Given the description of an element on the screen output the (x, y) to click on. 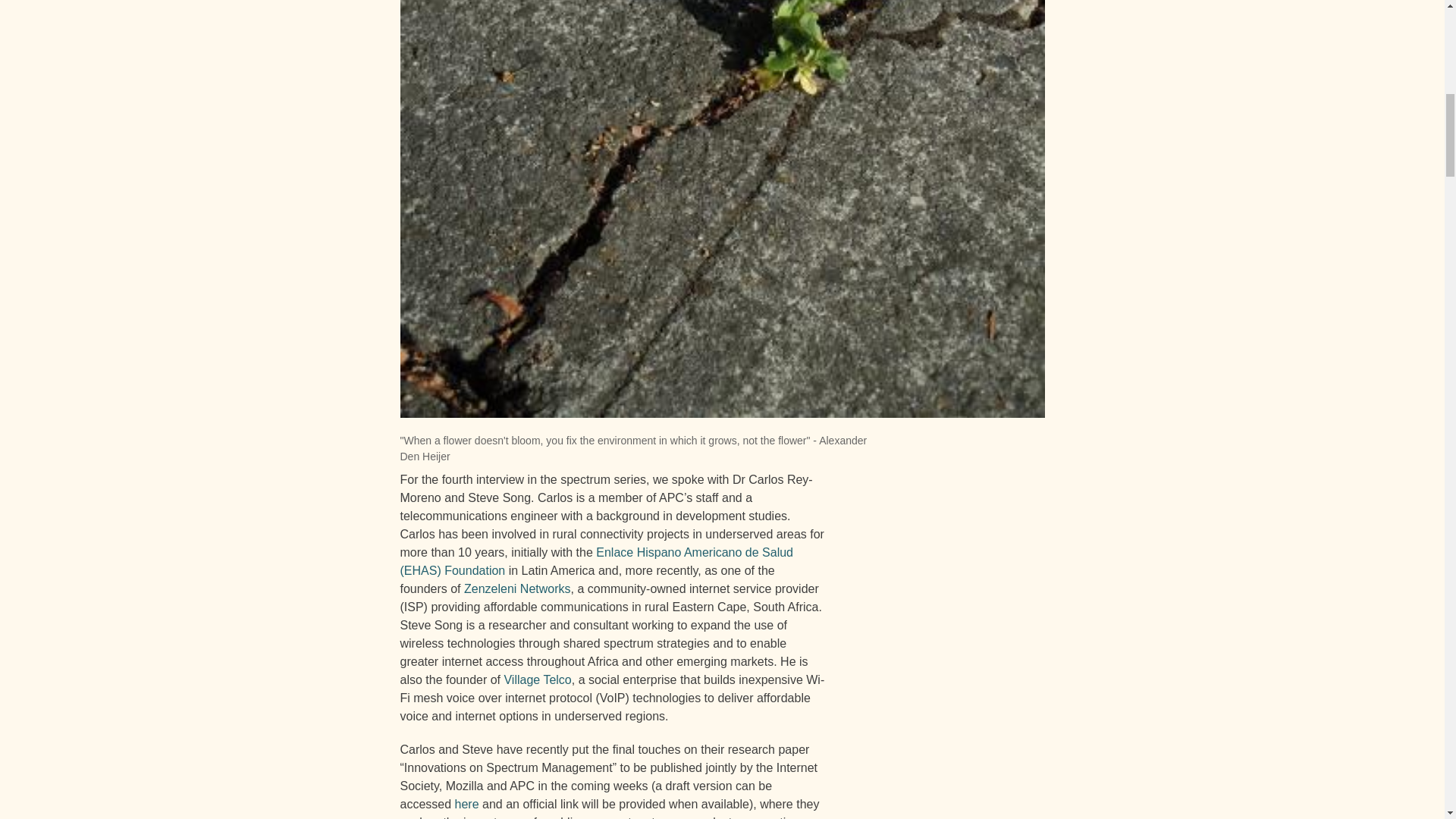
Village Telco (536, 679)
Zenzeleni Networks (517, 588)
here (466, 803)
